Given the description of an element on the screen output the (x, y) to click on. 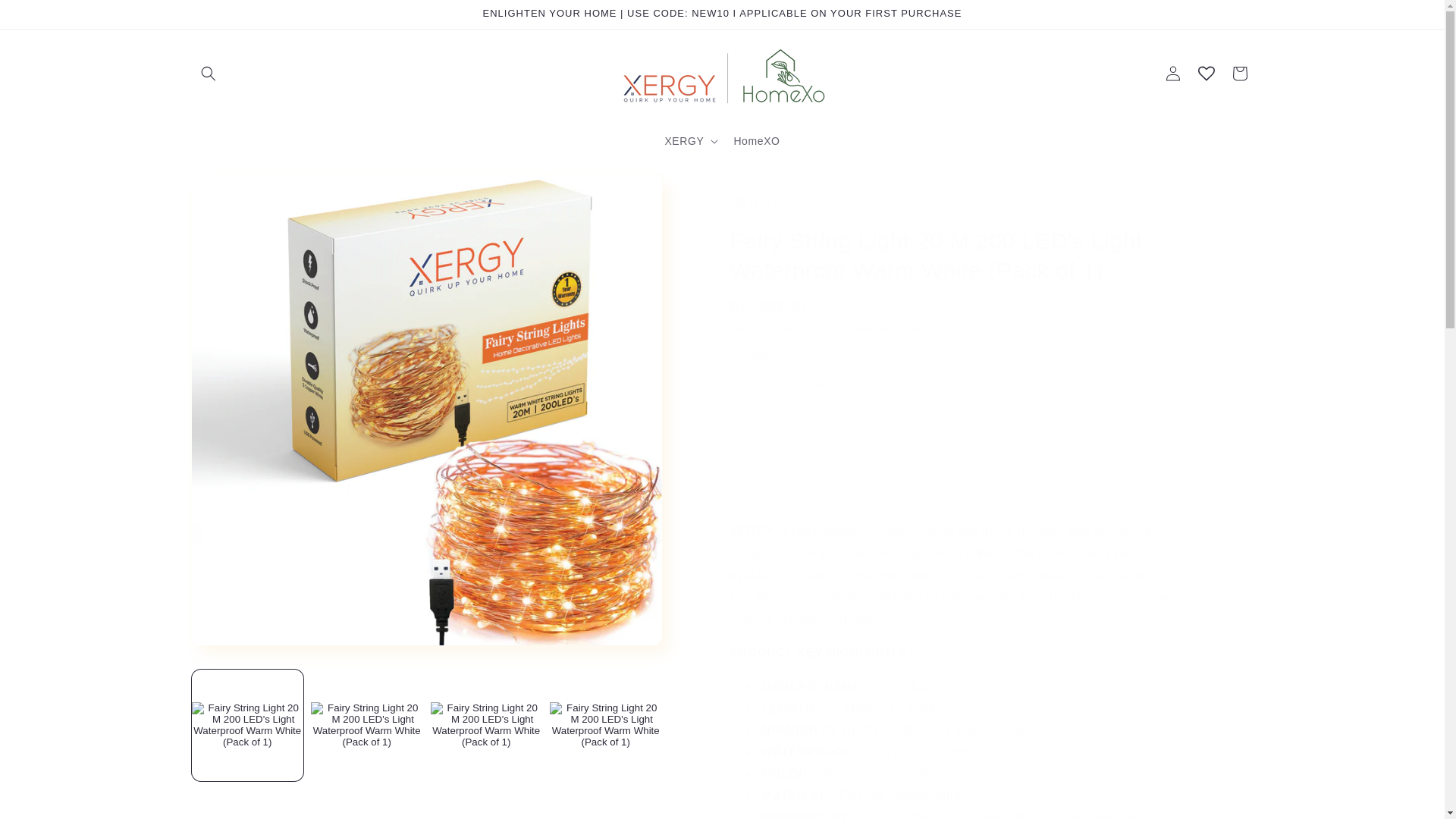
HomeXO (756, 140)
Cart (1239, 72)
Skip to content (45, 17)
Log in (1172, 72)
Skip to product information (236, 191)
1 (783, 385)
